Given the description of an element on the screen output the (x, y) to click on. 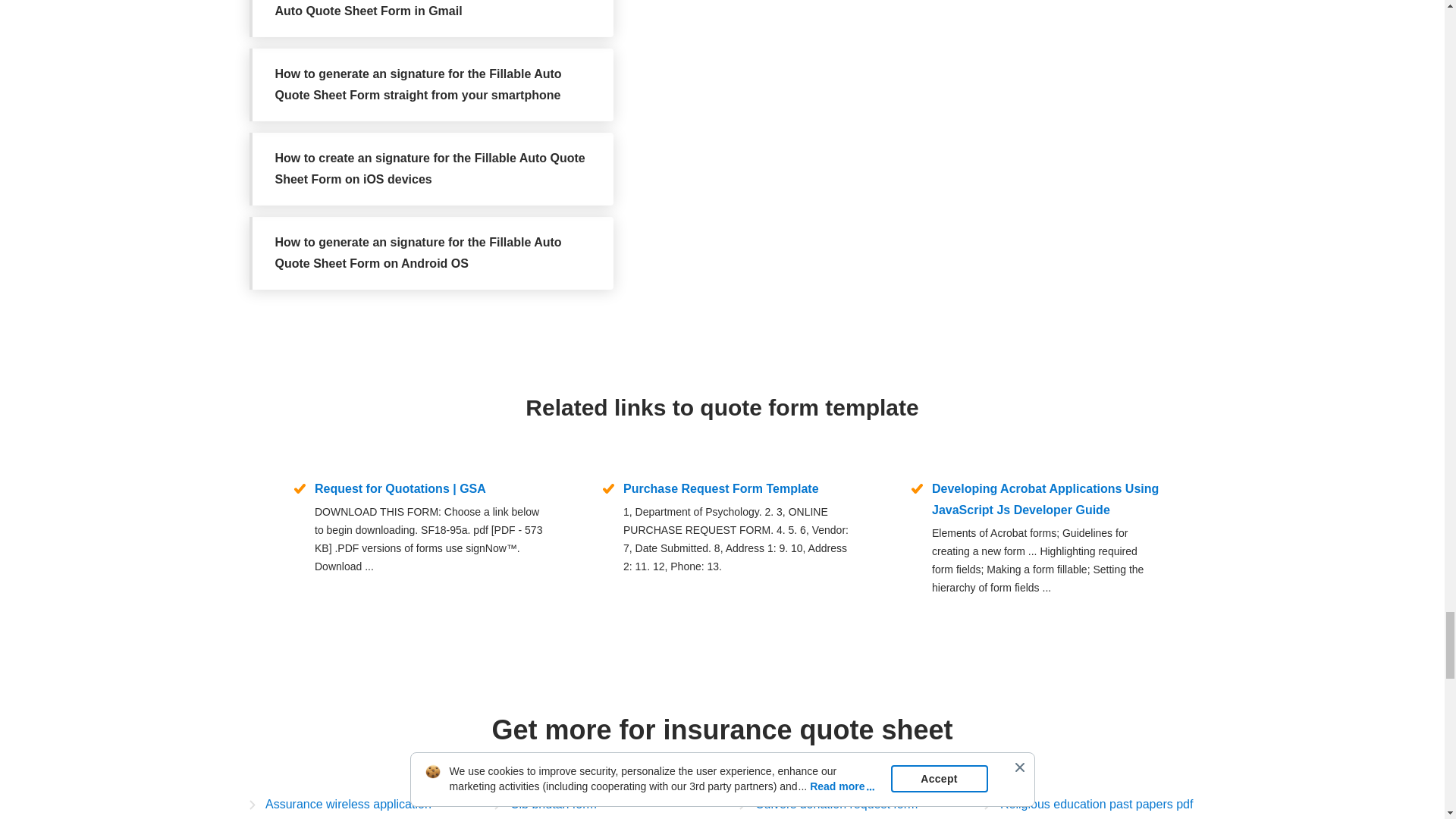
Religious education past papers pdf form (1089, 806)
Culvers donation request form (827, 803)
Cib bhutan form (545, 803)
Assurance wireless application printable form (354, 806)
